Given the description of an element on the screen output the (x, y) to click on. 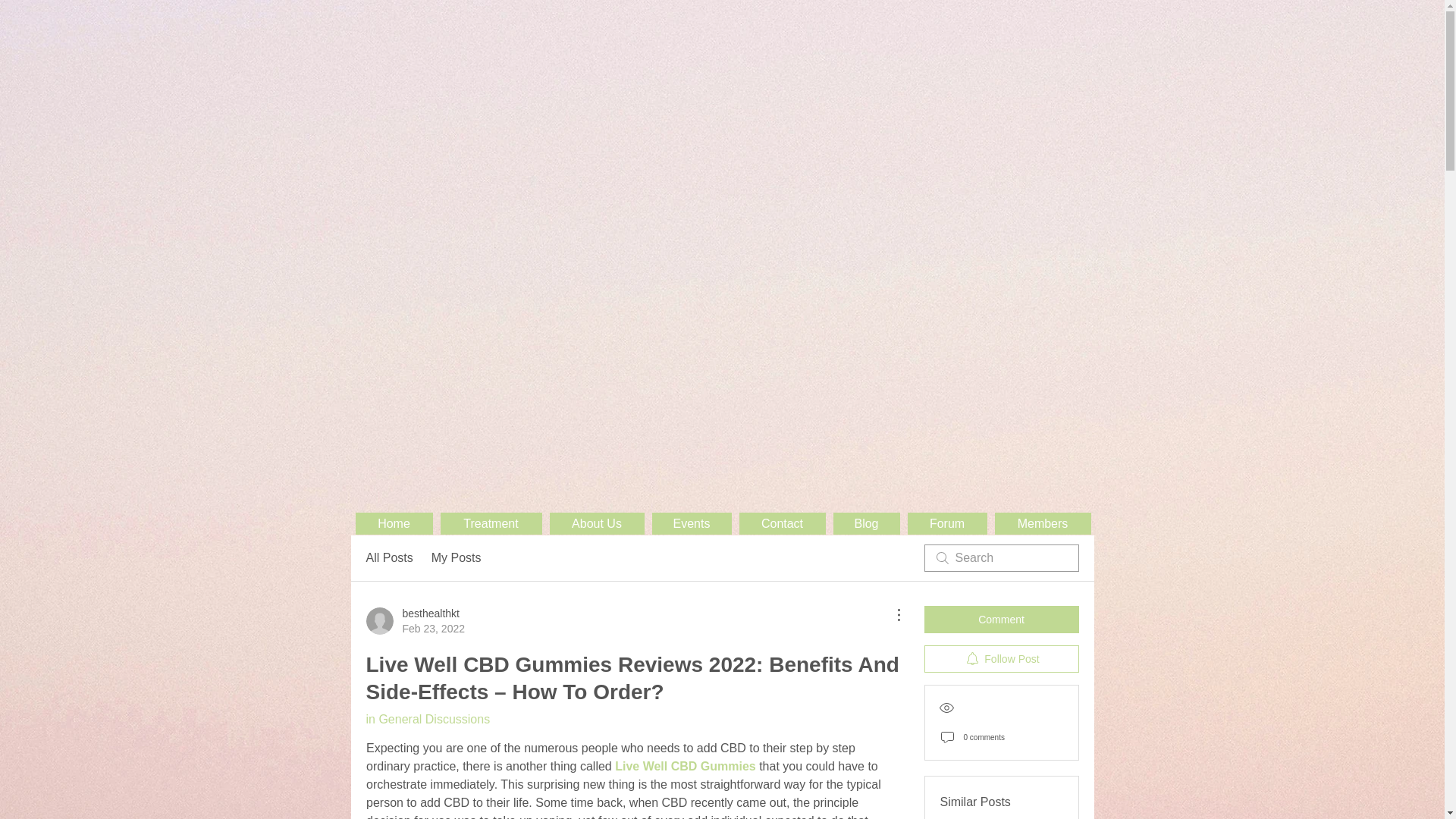
Blog (865, 523)
My Posts (455, 557)
Live Well CBD Gummies (684, 766)
Comment (1000, 619)
Treatment (490, 523)
All Posts (414, 621)
Events (388, 557)
Contact (692, 523)
Home (781, 523)
